Given the description of an element on the screen output the (x, y) to click on. 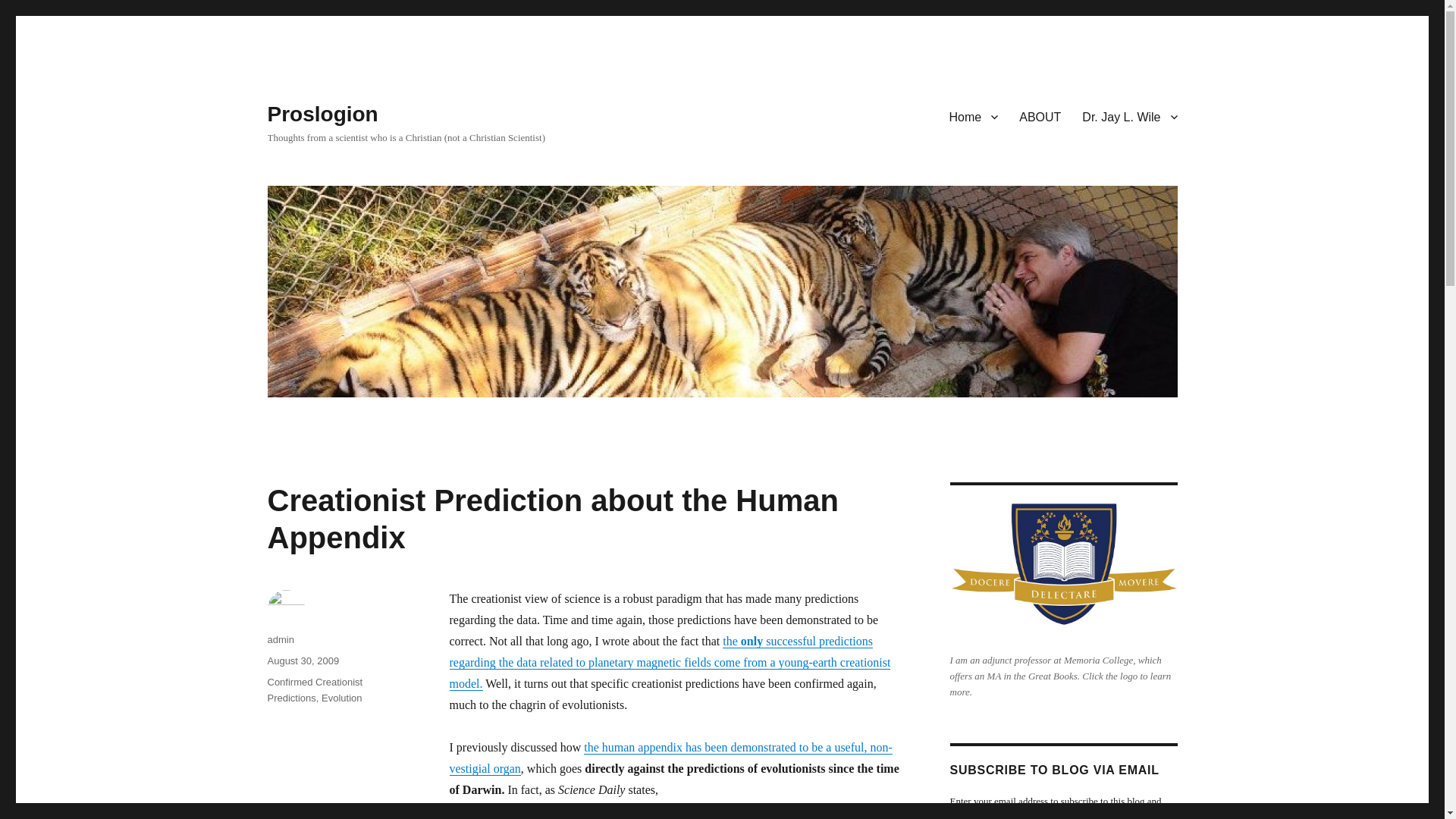
ABOUT (1040, 116)
Dr. Jay L. Wile (1129, 116)
August 30, 2009 (302, 660)
Evolution (341, 697)
admin (280, 639)
Confirmed Creationist Predictions (314, 689)
Proslogion (321, 114)
Home (974, 116)
